Given the description of an element on the screen output the (x, y) to click on. 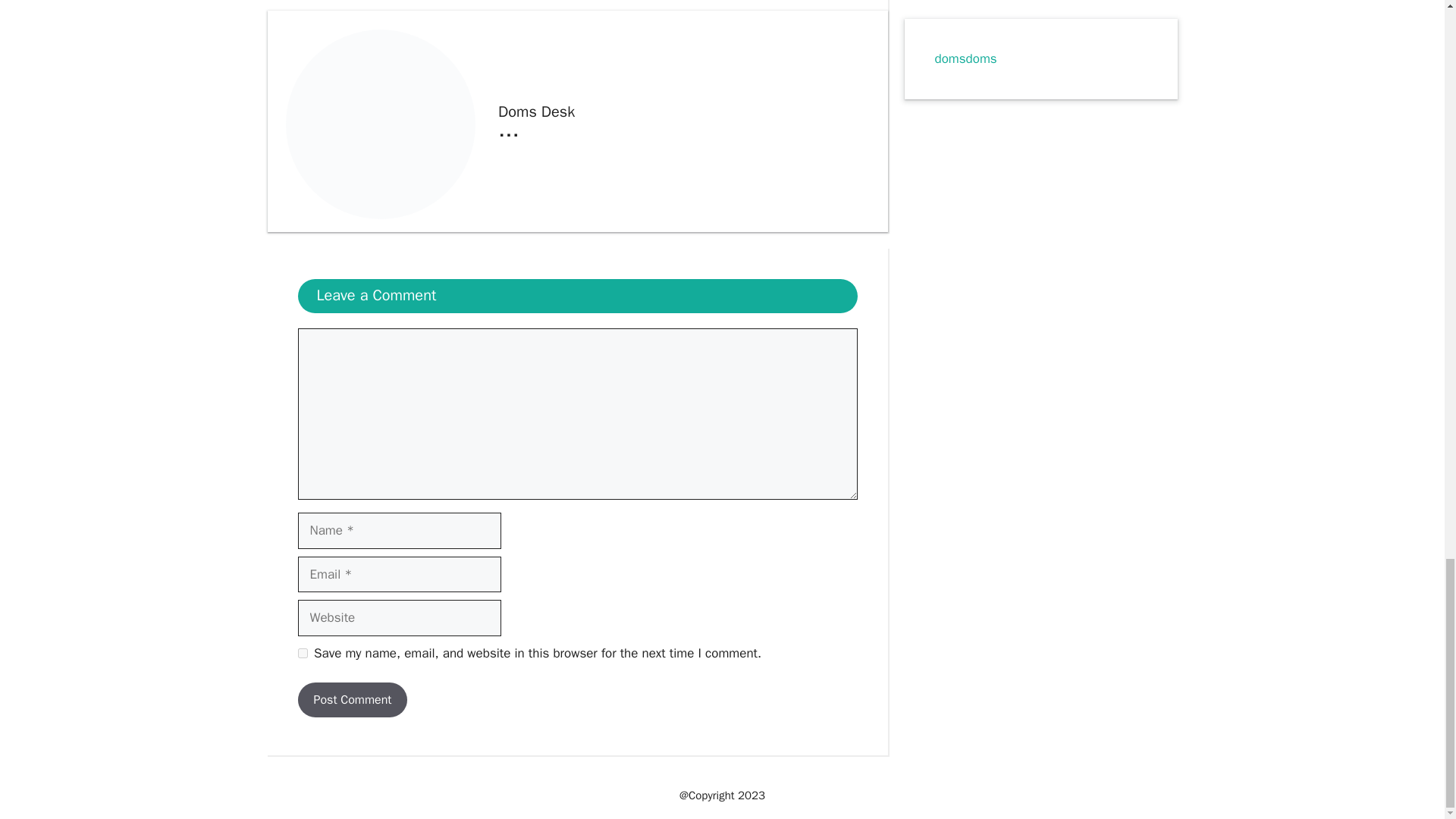
yes (302, 653)
Post Comment (352, 699)
Post Comment (352, 699)
